Given the description of an element on the screen output the (x, y) to click on. 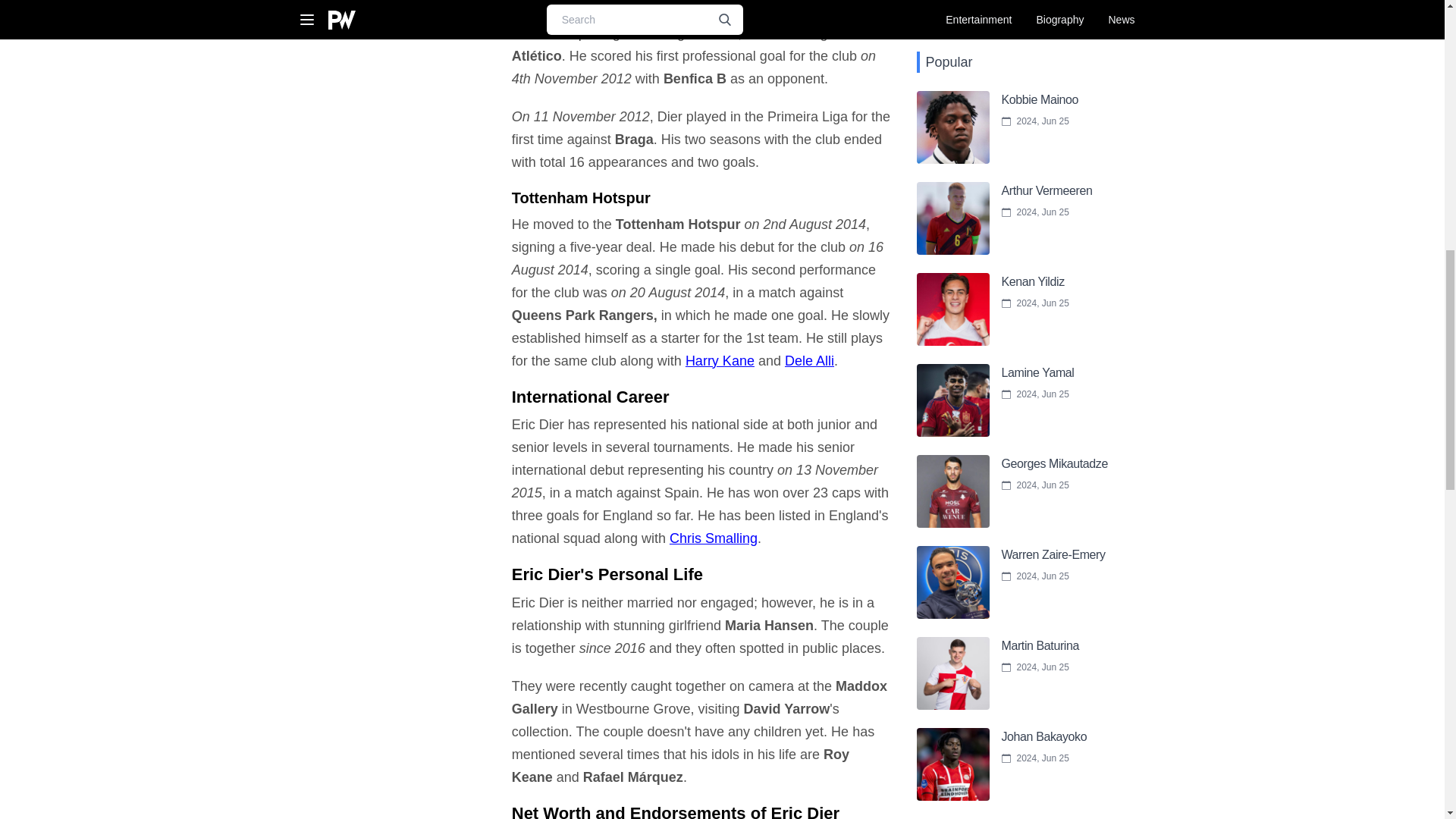
Chris Smalling (713, 538)
Dele Alli (809, 360)
Harry Kane (719, 360)
